Given the description of an element on the screen output the (x, y) to click on. 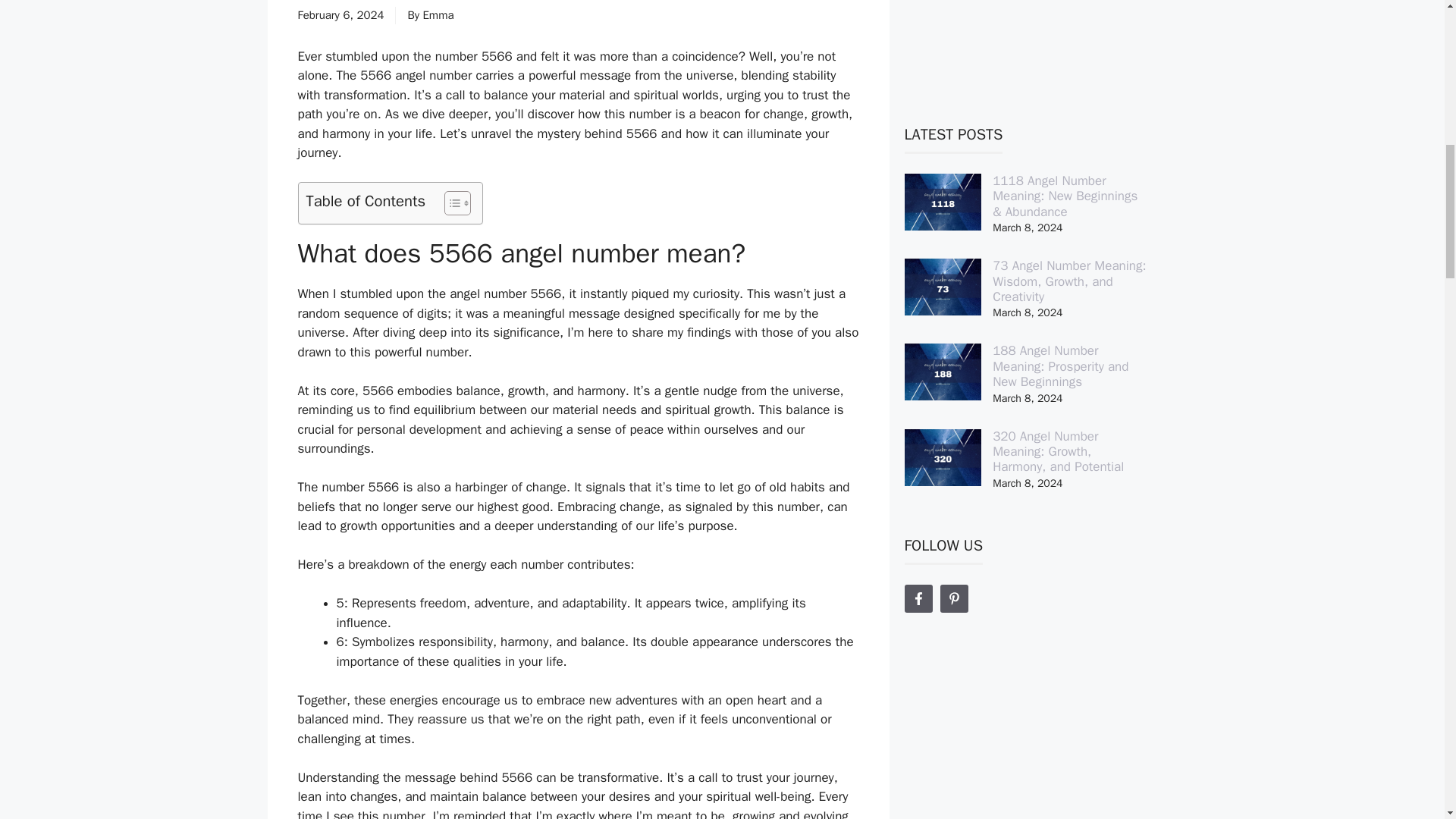
188 Angel Number Meaning: Prosperity and New Beginnings (1060, 366)
Advertisement (1025, 36)
73 Angel Number Meaning: Wisdom, Growth, and Creativity (1068, 280)
320 Angel Number Meaning: Growth, Harmony, and Potential (1058, 451)
